Given the description of an element on the screen output the (x, y) to click on. 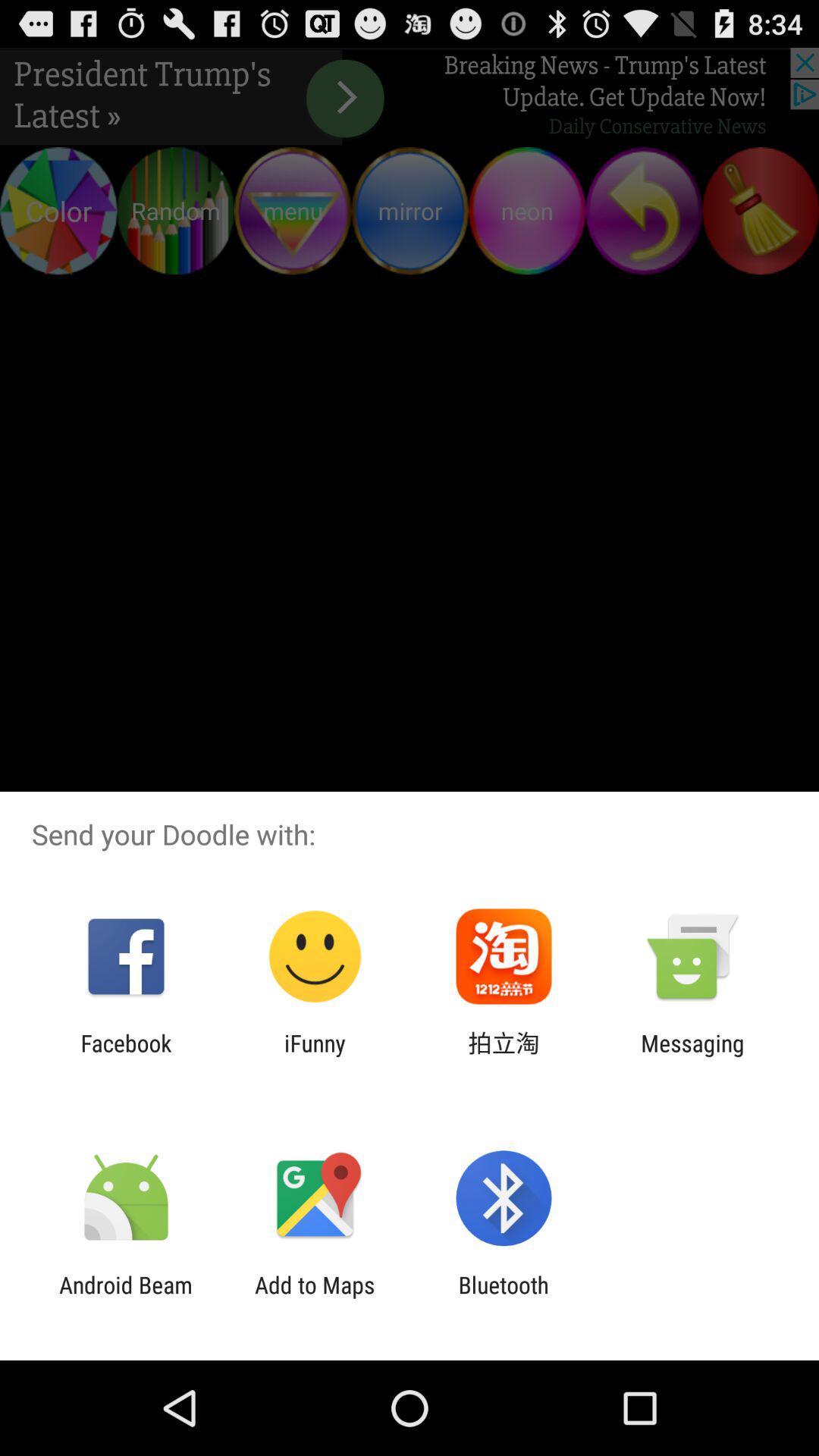
select icon to the right of android beam (314, 1298)
